Given the description of an element on the screen output the (x, y) to click on. 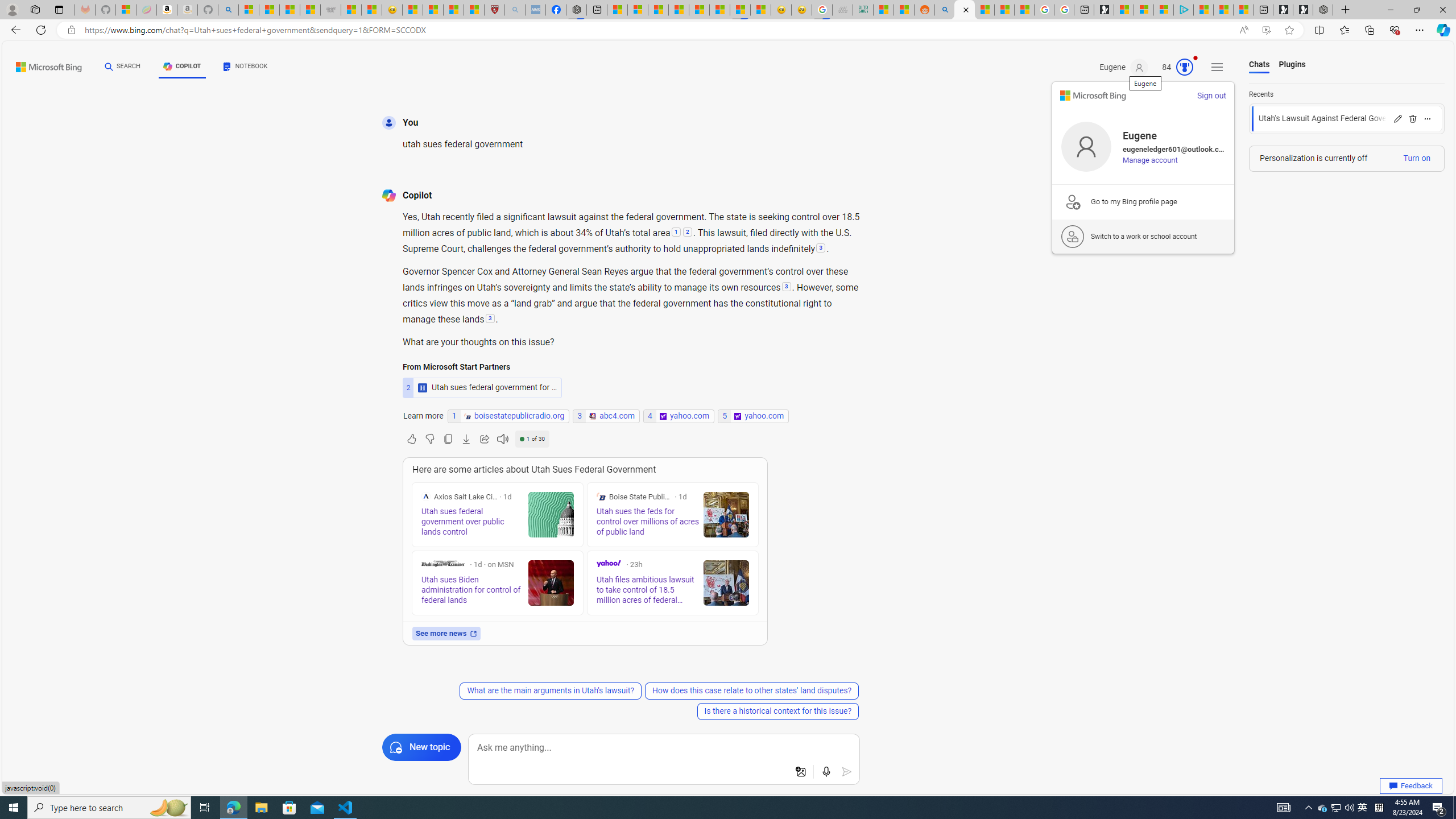
Axios Salt Lake City on MSN (425, 496)
Manage account (1149, 159)
How does this case relate to other states' land disputes? (751, 690)
What are the main arguments in Utah's lawsuit? (550, 690)
SEARCH (122, 66)
NOTEBOOK (245, 66)
Sign out (1210, 95)
Yahoo (608, 563)
Microsoft Copilot in Bing (964, 9)
